Given the description of an element on the screen output the (x, y) to click on. 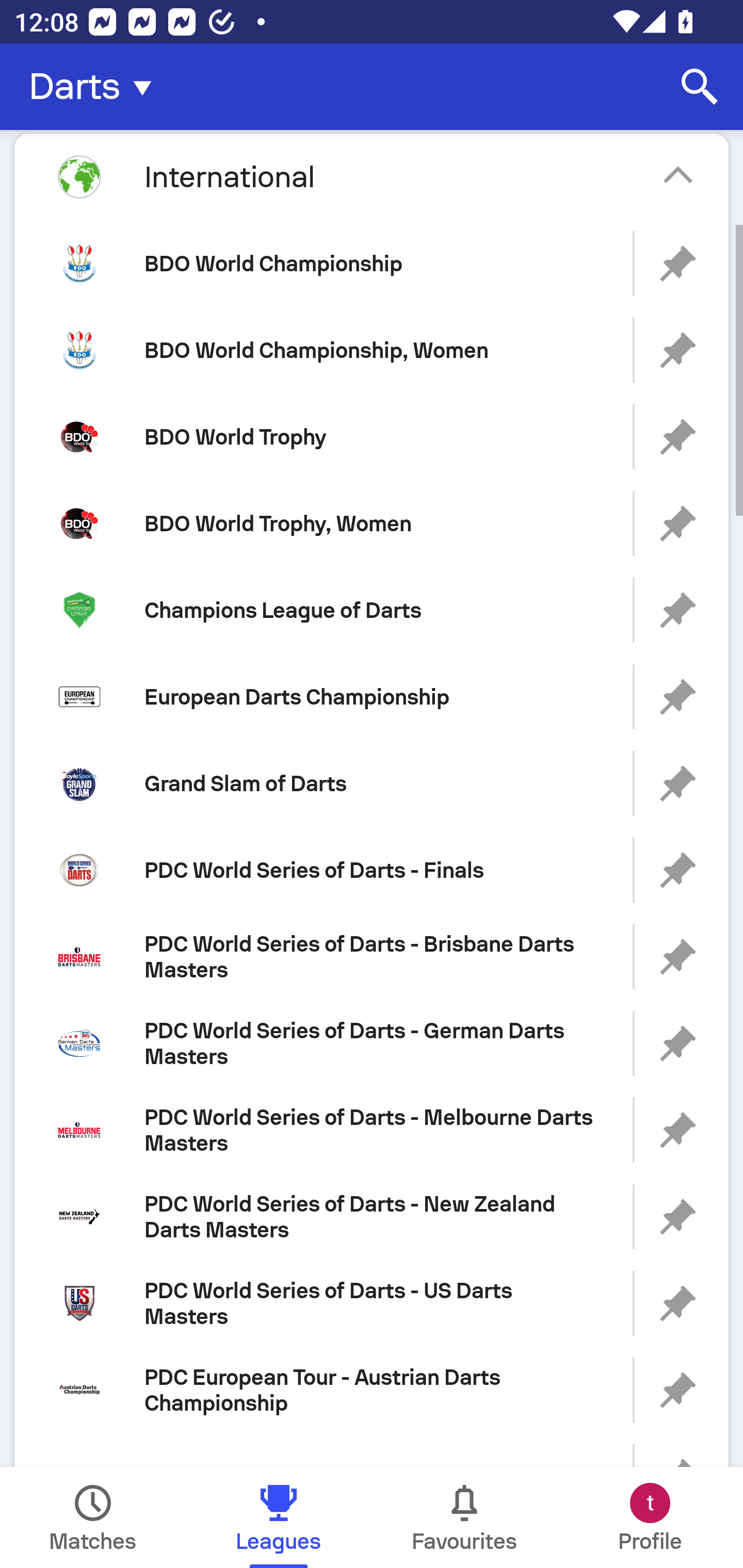
Darts (96, 86)
Search (699, 86)
International (371, 176)
BDO World Championship (371, 263)
BDO World Championship, Women (371, 350)
BDO World Trophy (371, 436)
BDO World Trophy, Women (371, 523)
Champions League of Darts (371, 610)
European Darts Championship (371, 696)
Grand Slam of Darts (371, 783)
PDC World Series of Darts - Finals (371, 870)
PDC World Series of Darts - Brisbane Darts Masters (371, 957)
PDC World Series of Darts - German Darts Masters (371, 1043)
PDC World Series of Darts - US Darts Masters (371, 1303)
PDC European Tour - Austrian Darts Championship (371, 1389)
Matches (92, 1517)
Favourites (464, 1517)
Profile (650, 1517)
